Given the description of an element on the screen output the (x, y) to click on. 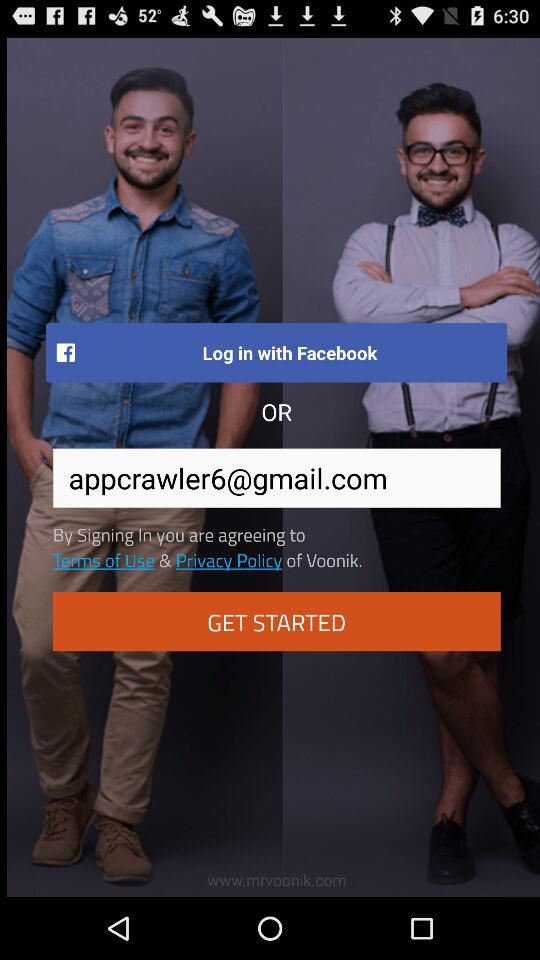
choose terms of use item (103, 559)
